Given the description of an element on the screen output the (x, y) to click on. 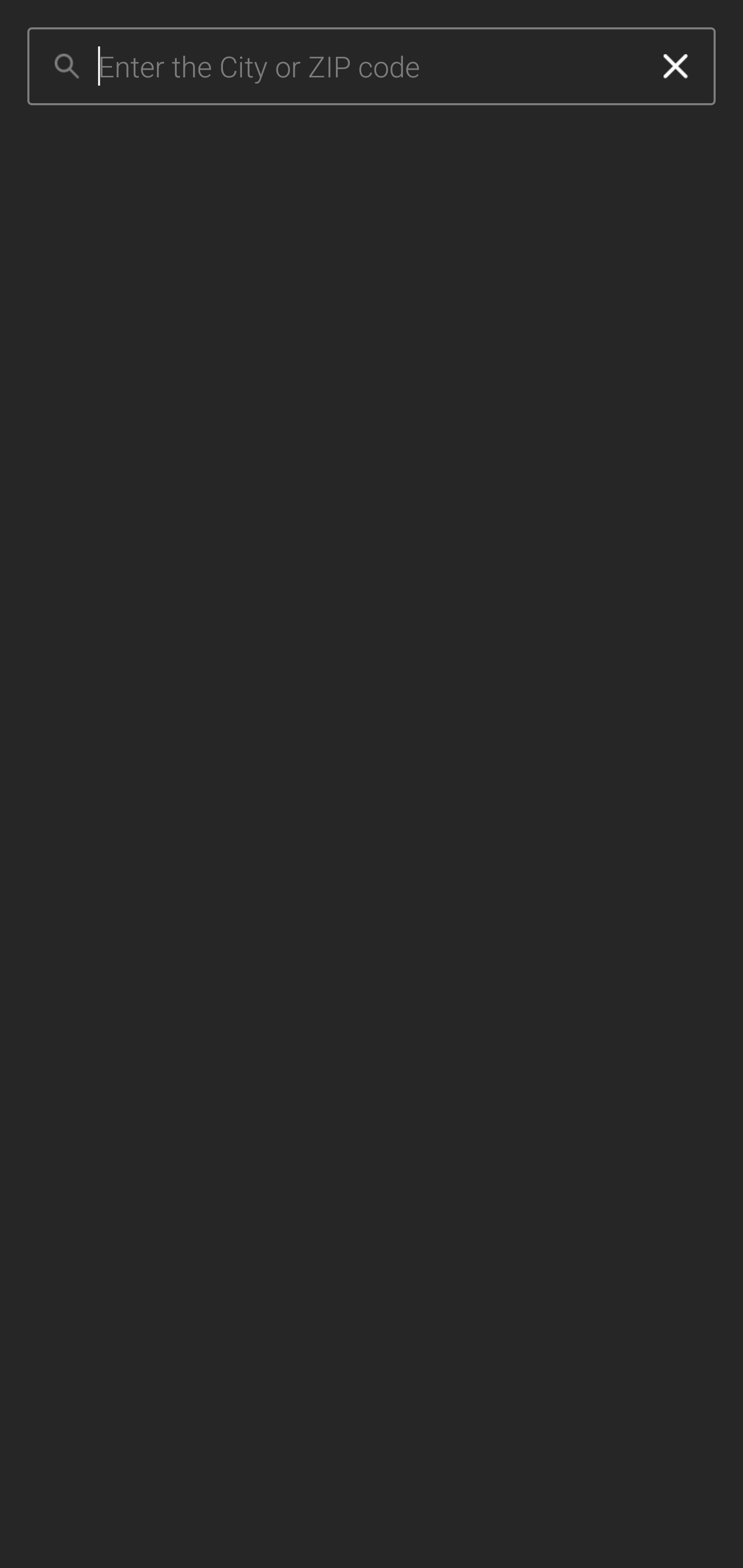
Enter the City or ZIP code (367, 66)
